Given the description of an element on the screen output the (x, y) to click on. 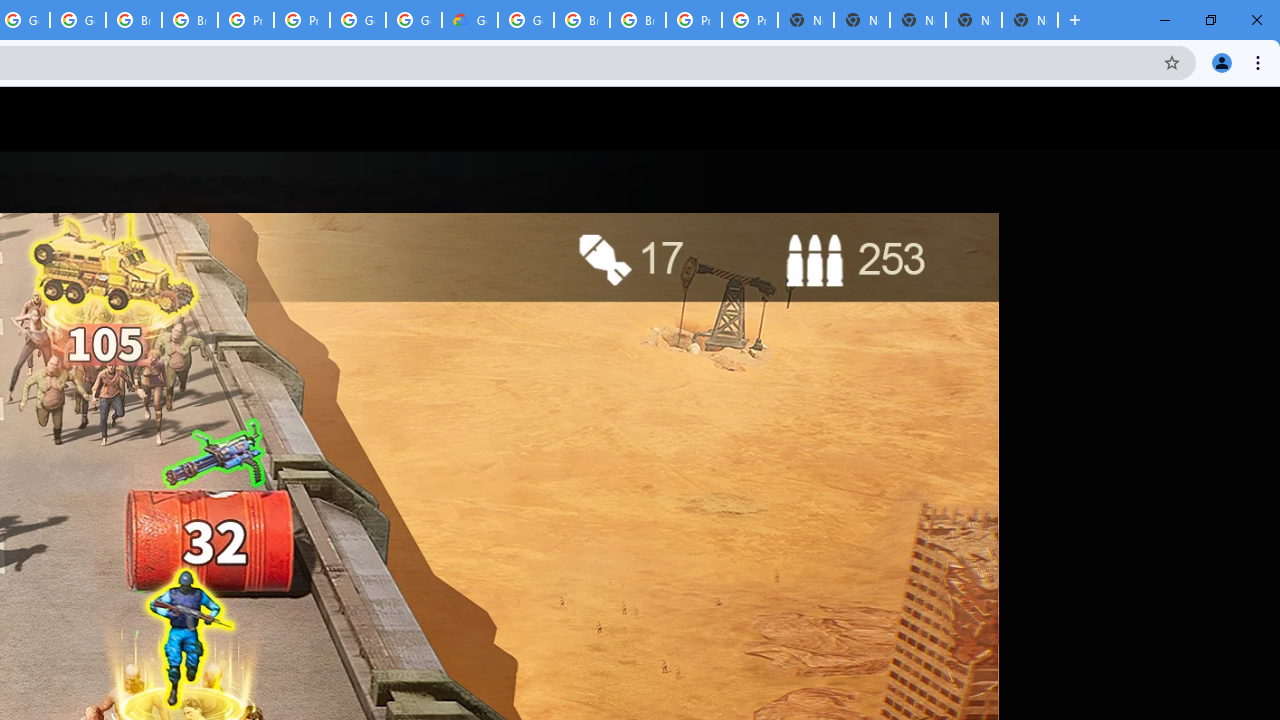
Help Center (1197, 119)
Browse Chrome as a guest - Computer - Google Chrome Help (189, 20)
Open account menu (1245, 119)
Google Cloud Platform (358, 20)
Google Cloud Estimate Summary (469, 20)
